Given the description of an element on the screen output the (x, y) to click on. 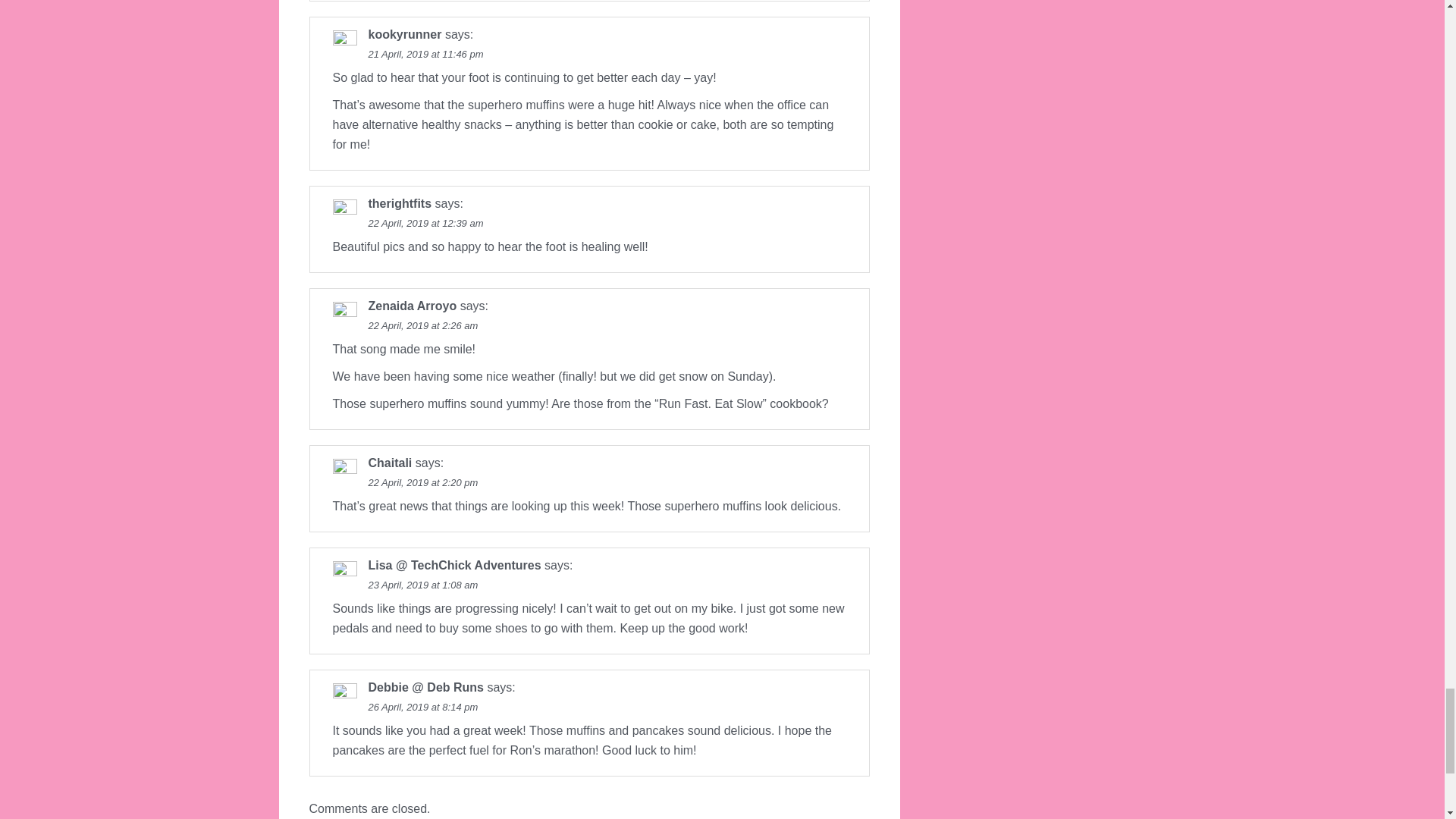
22 April, 2019 at 2:20 pm (423, 482)
26 April, 2019 at 8:14 pm (423, 706)
Zenaida Arroyo (412, 305)
kookyrunner (405, 33)
22 April, 2019 at 12:39 am (425, 223)
23 April, 2019 at 1:08 am (423, 584)
Chaitali (390, 462)
22 April, 2019 at 2:26 am (423, 325)
21 April, 2019 at 11:46 pm (425, 53)
